Given the description of an element on the screen output the (x, y) to click on. 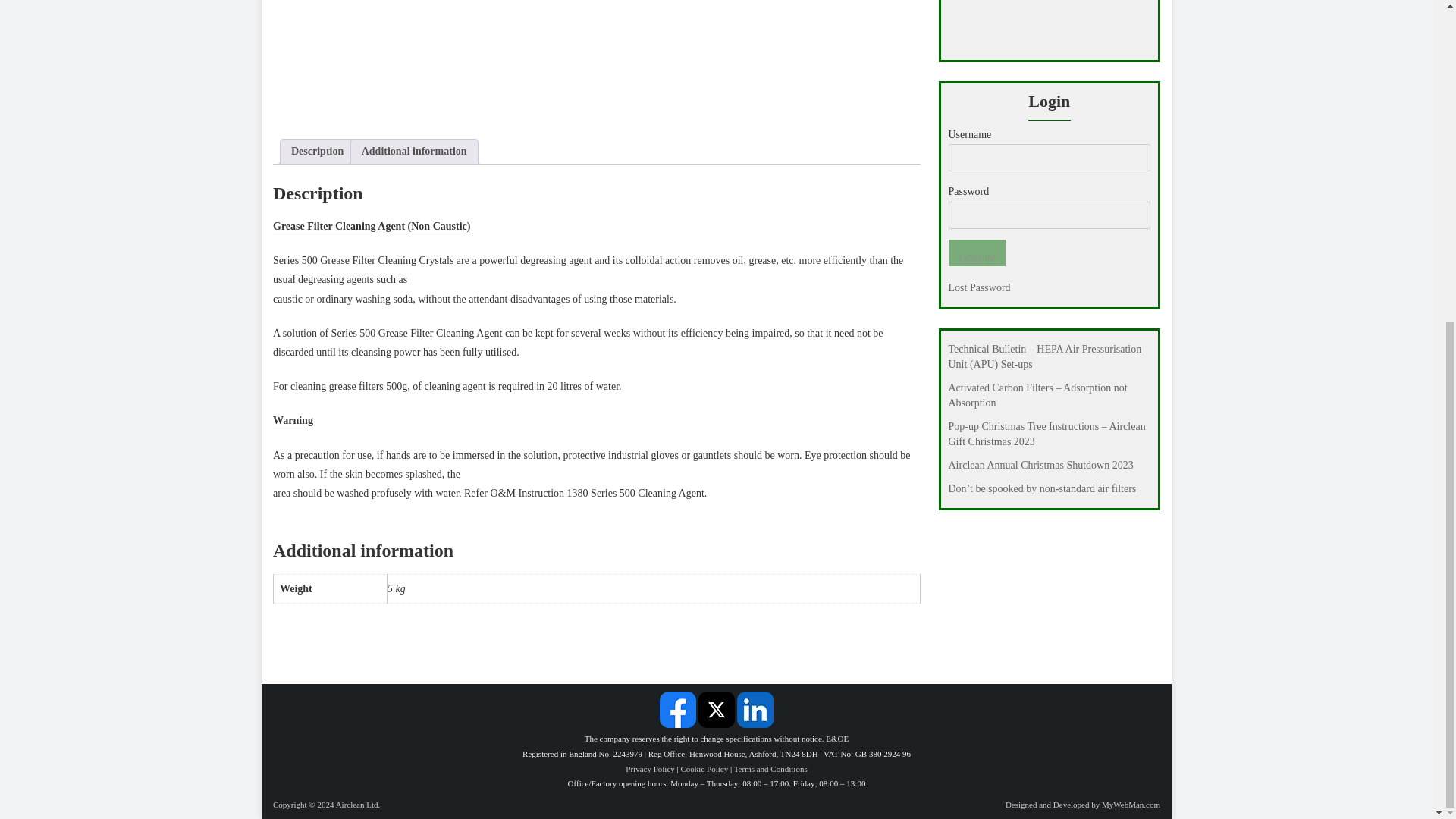
Log In (975, 252)
